Given the description of an element on the screen output the (x, y) to click on. 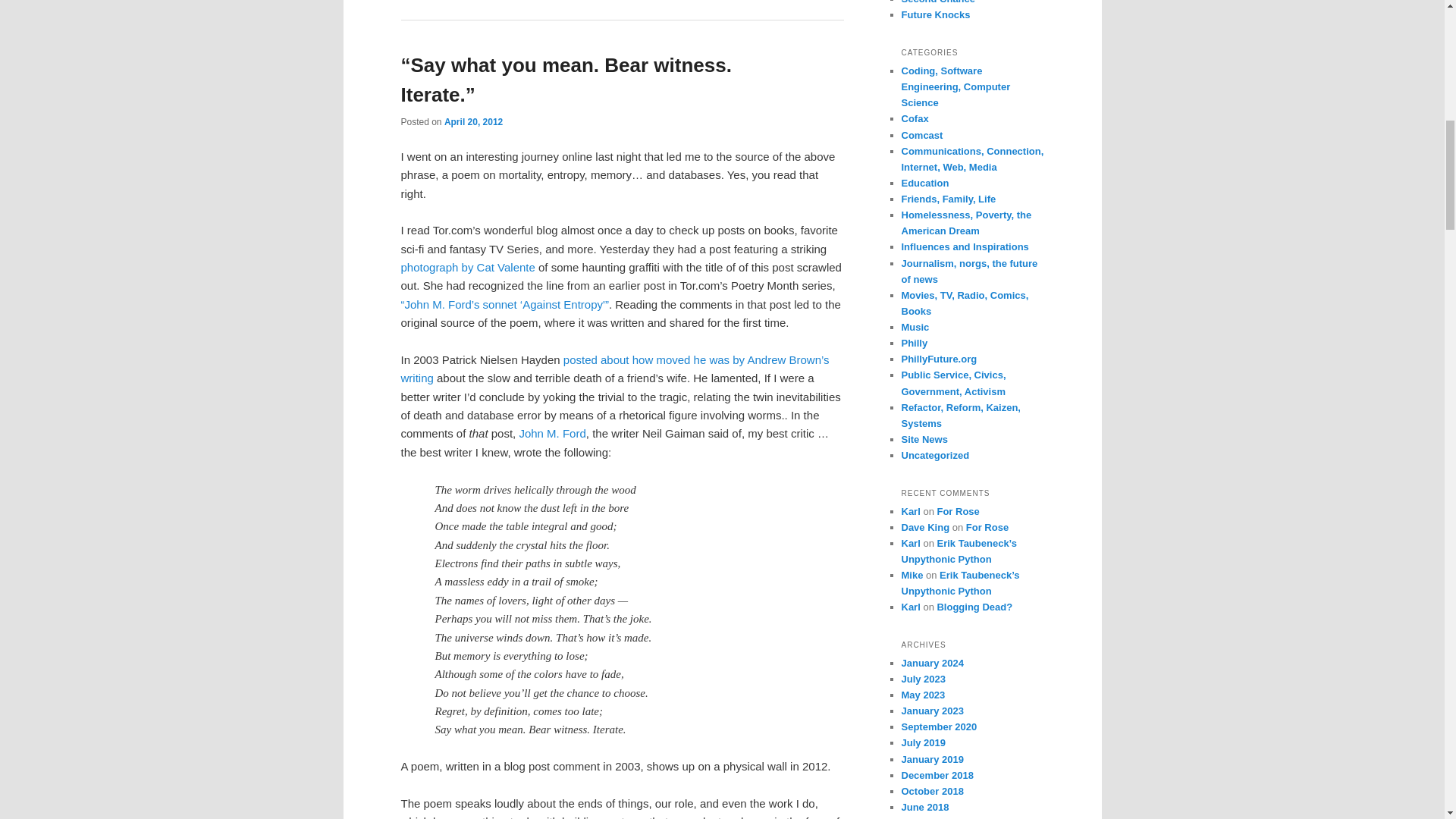
April 20, 2012 (473, 122)
John M. Ford (551, 432)
9:02 am (473, 122)
photograph by Cat Valente (467, 267)
